Given the description of an element on the screen output the (x, y) to click on. 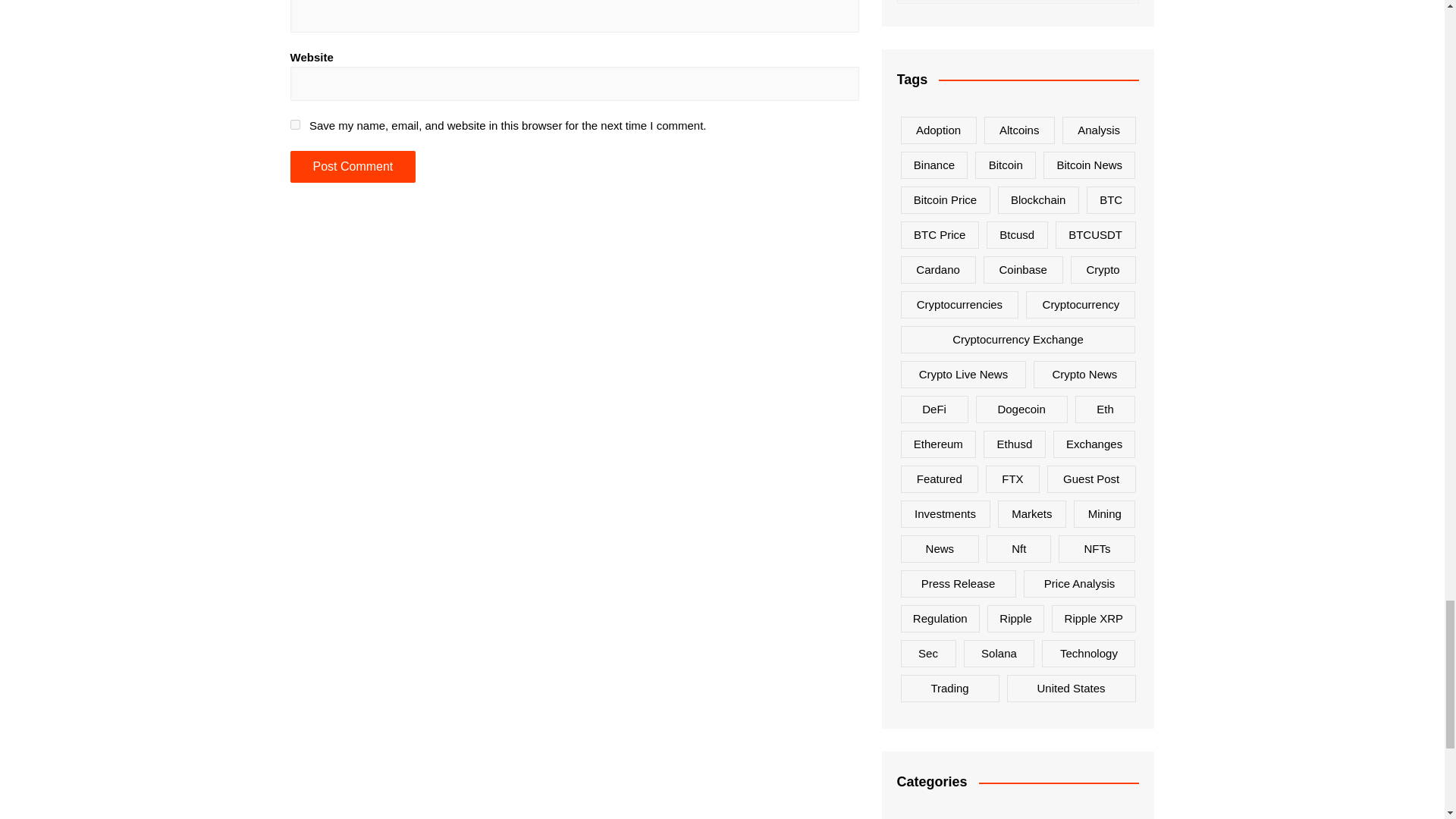
yes (294, 124)
Post Comment (351, 166)
